Given the description of an element on the screen output the (x, y) to click on. 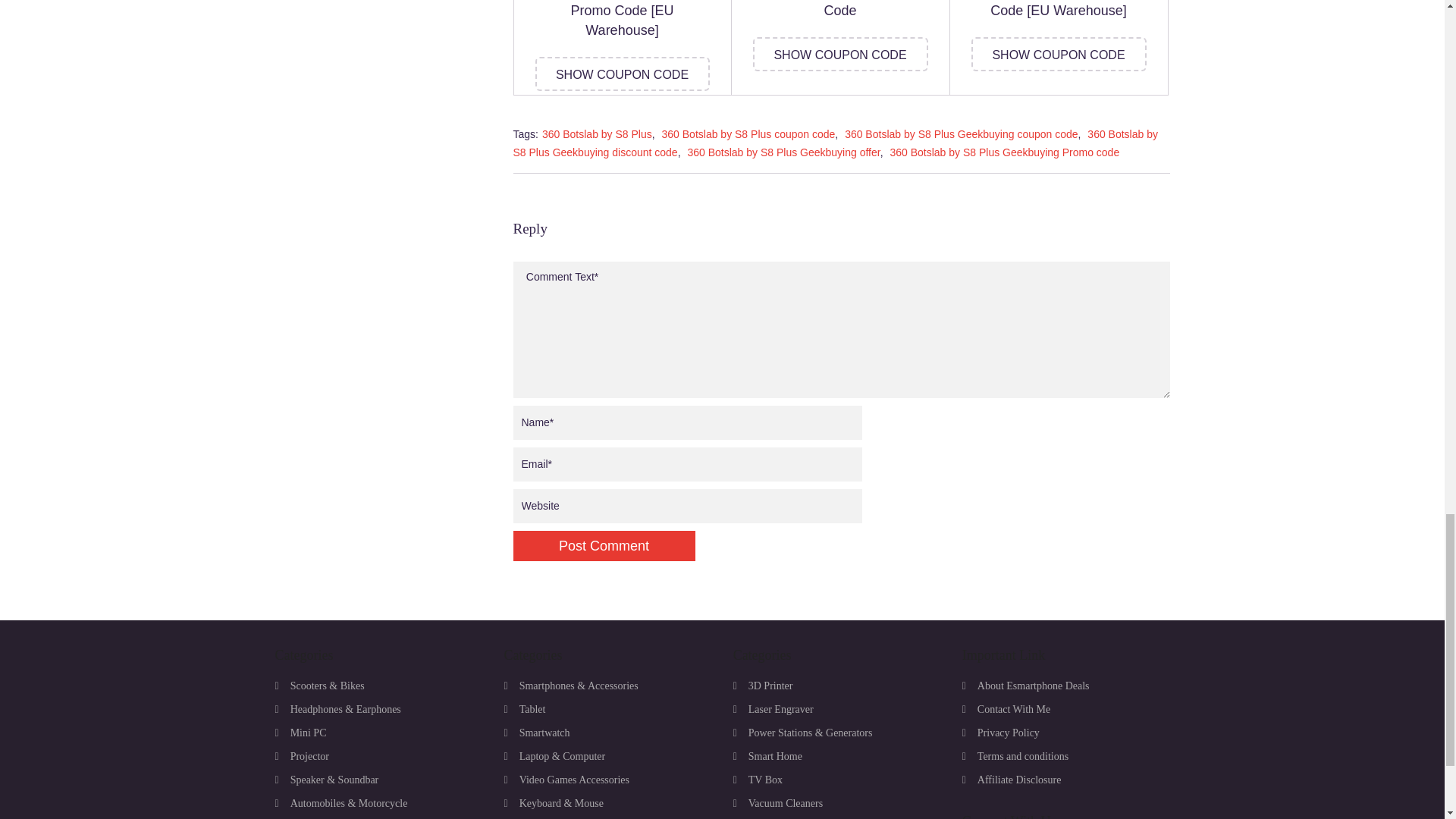
Post Comment (603, 545)
